Given the description of an element on the screen output the (x, y) to click on. 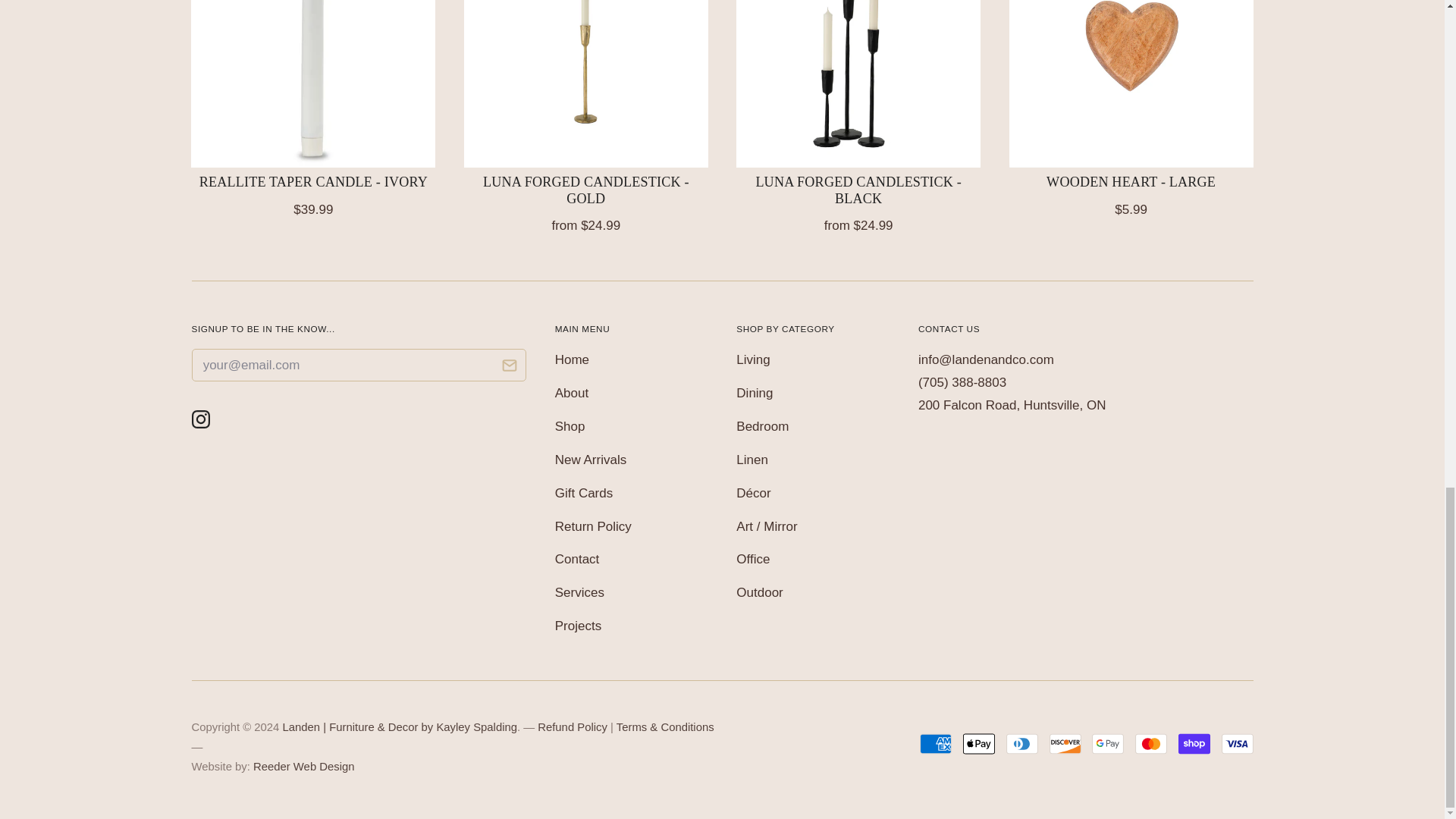
Visa (1236, 744)
Mastercard (1151, 744)
Shop Pay (1193, 744)
Google Pay (1108, 744)
Apple Pay (978, 744)
Discover (1065, 744)
Diners Club (1022, 744)
American Express (936, 744)
